Given the description of an element on the screen output the (x, y) to click on. 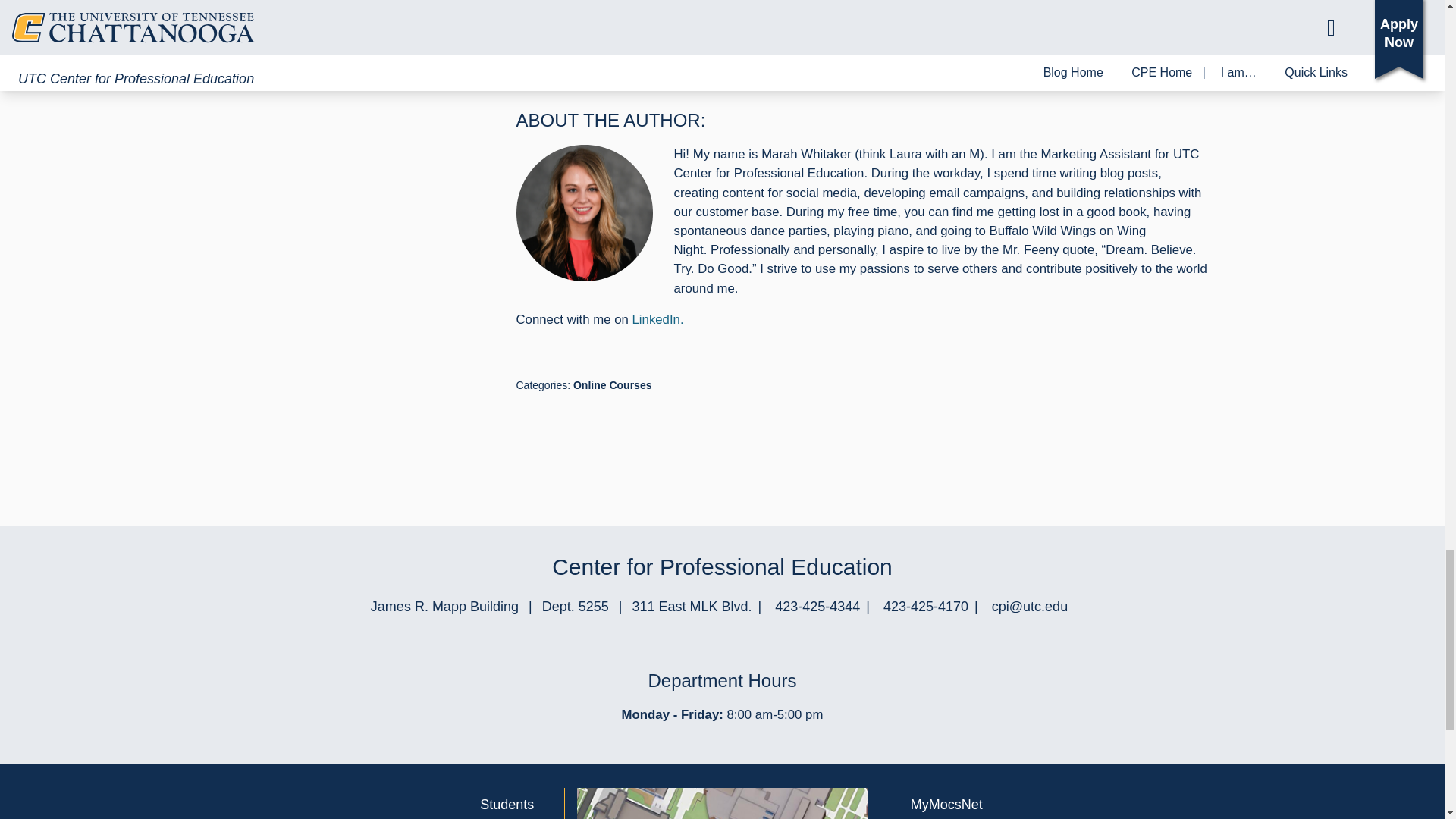
call us (817, 606)
email us (1029, 606)
